Given the description of an element on the screen output the (x, y) to click on. 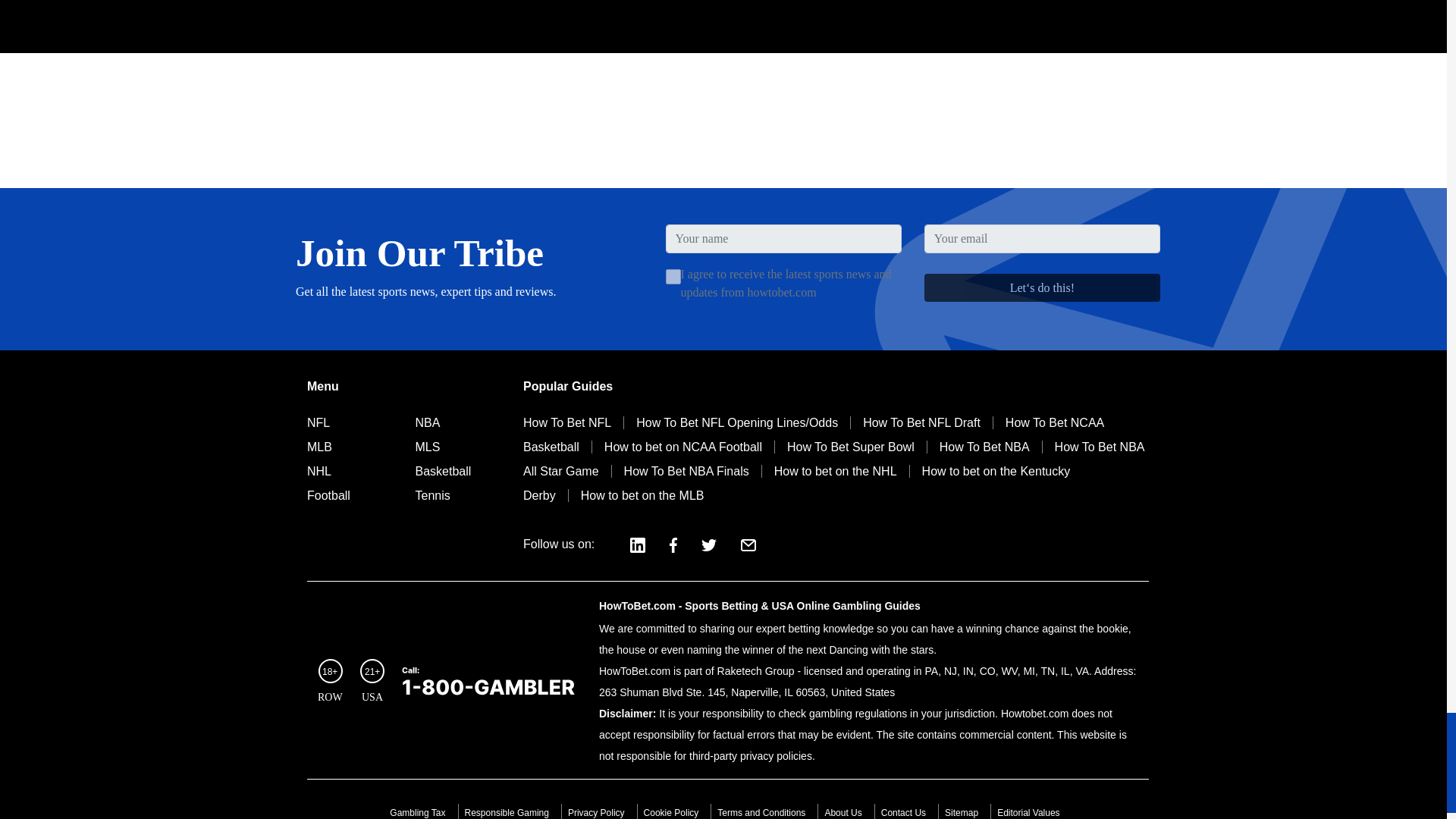
on (673, 276)
NHL (319, 471)
NFL (318, 422)
MLS (427, 446)
NBA (427, 422)
MLB (319, 446)
How to bet on NCAA Football (682, 446)
Basketball (442, 471)
How to bet on the Kentucky Derby (796, 483)
Tennis (431, 495)
How to bet on the NHL (834, 471)
Football (328, 495)
How To Bet NBA (984, 446)
How To Bet NFL (572, 422)
How To Bet NCAA Basketball (812, 434)
